Given the description of an element on the screen output the (x, y) to click on. 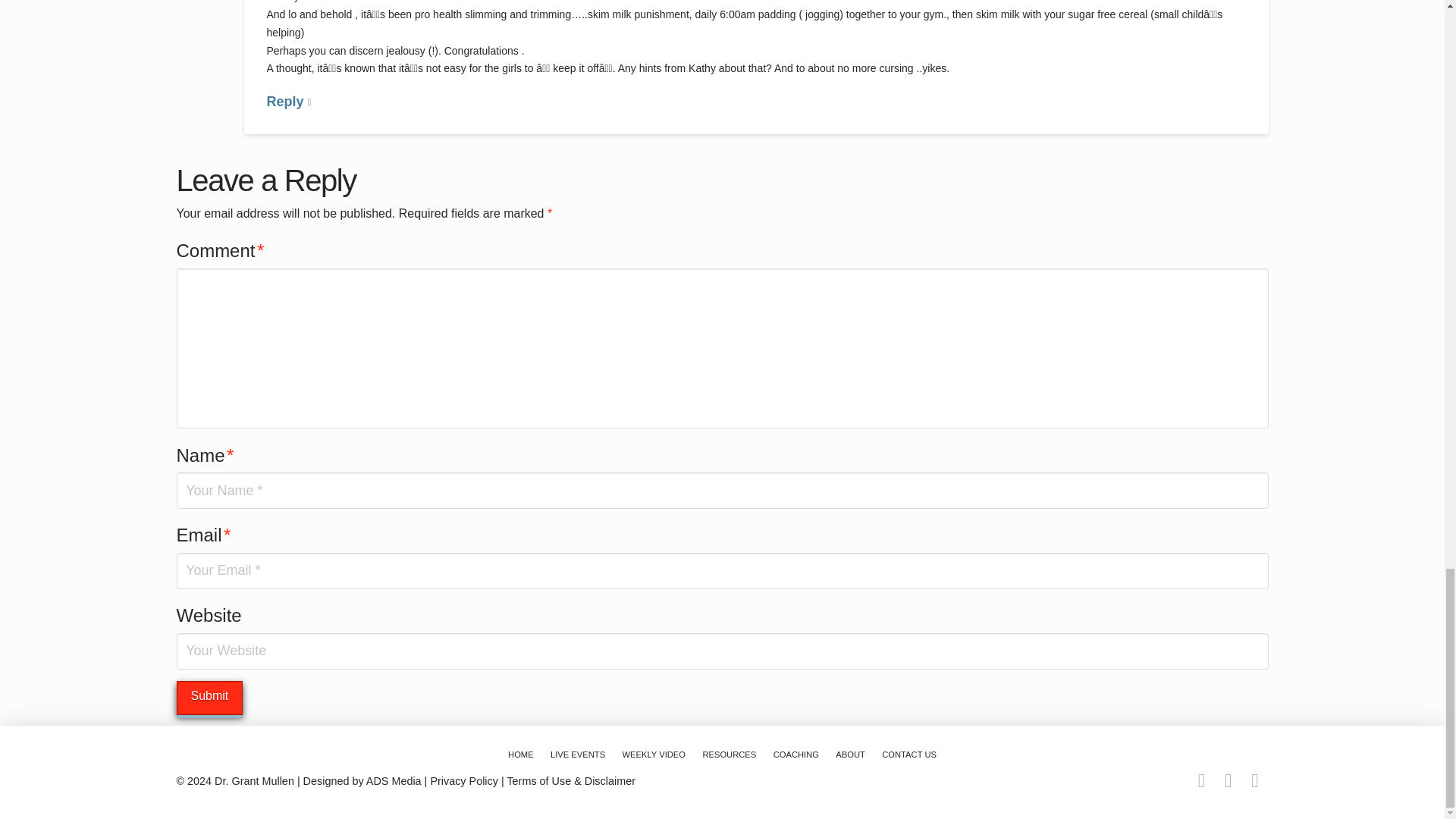
Submit (209, 697)
Reply (288, 101)
